Given the description of an element on the screen output the (x, y) to click on. 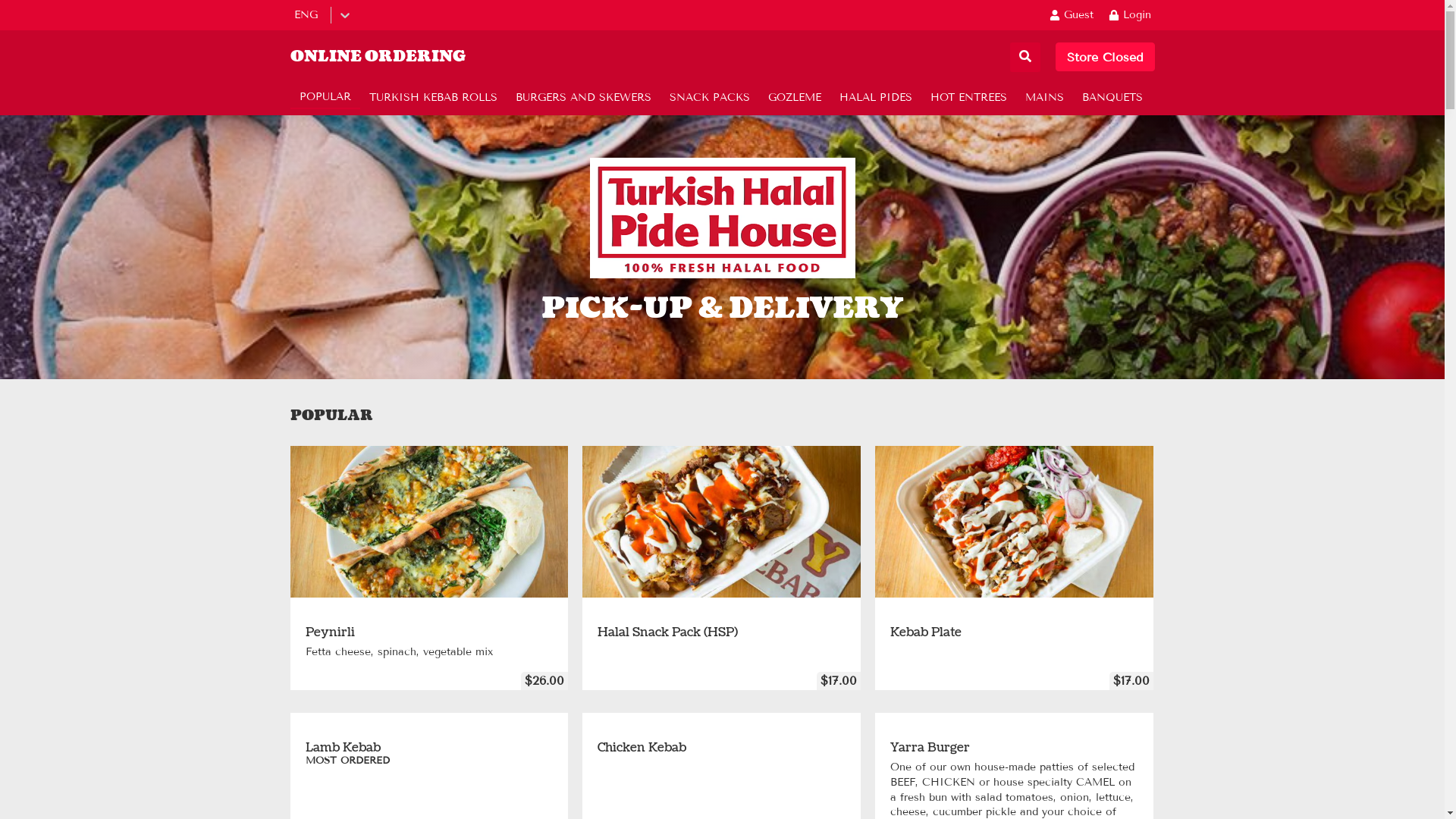
Store Closed Element type: text (1104, 56)
